Given the description of an element on the screen output the (x, y) to click on. 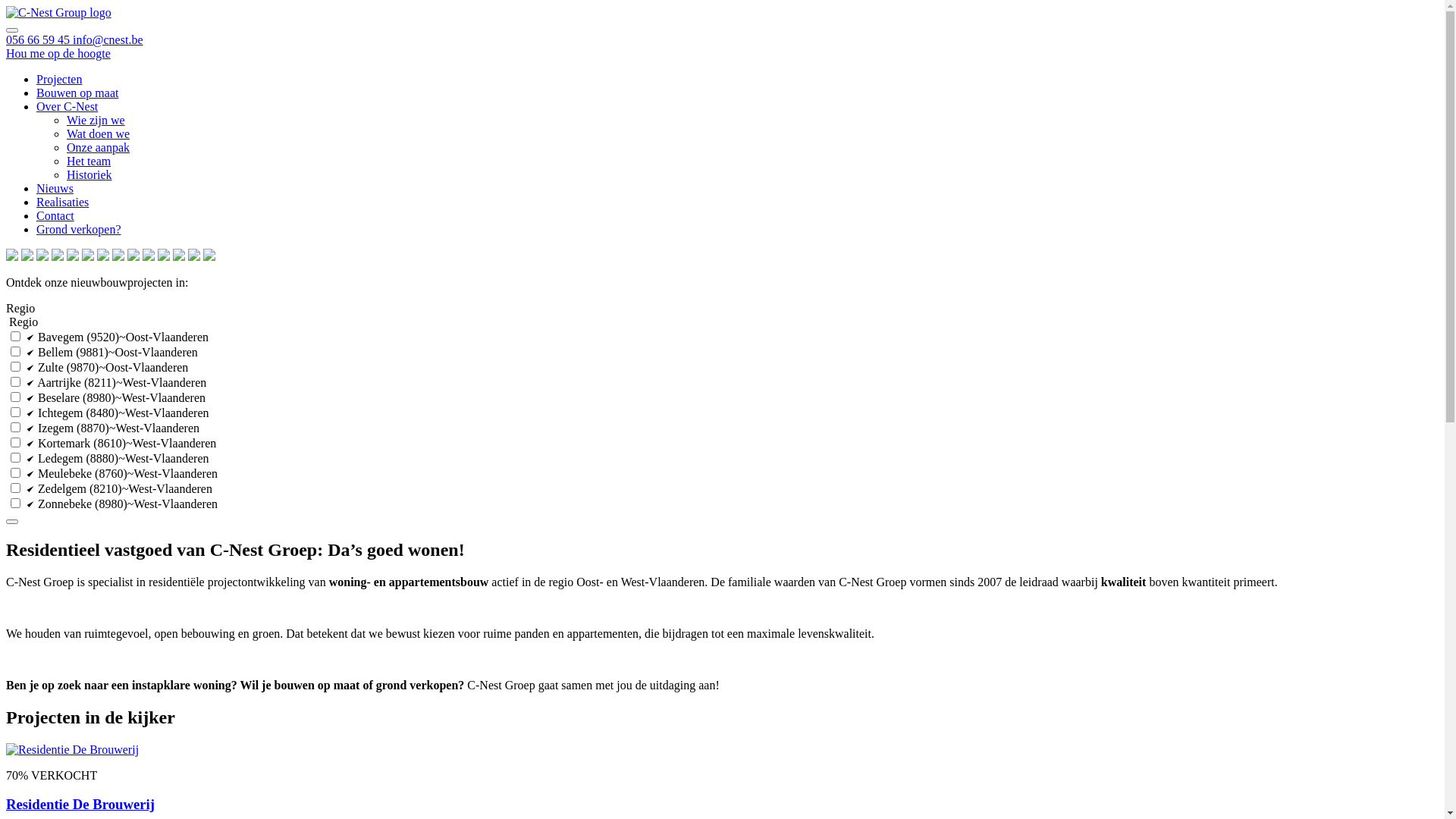
C-Nest Group logo Element type: hover (58, 12)
Nieuws Element type: text (54, 188)
Wie zijn we Element type: text (95, 119)
info@cnest.be Element type: text (107, 39)
Realisaties Element type: text (62, 201)
Projecten Element type: text (58, 78)
Over C-Nest Element type: text (66, 106)
Grond verkopen? Element type: text (78, 228)
Residentie De Brouwerij Element type: text (722, 804)
Contact Element type: text (55, 215)
Onze aanpak Element type: text (97, 147)
056 66 59 45 Element type: text (39, 39)
Het team Element type: text (88, 160)
Wat doen we Element type: text (97, 133)
Historiek Element type: text (89, 174)
Hou me op de hoogte Element type: text (58, 53)
Bouwen op maat Element type: text (77, 92)
